Given the description of an element on the screen output the (x, y) to click on. 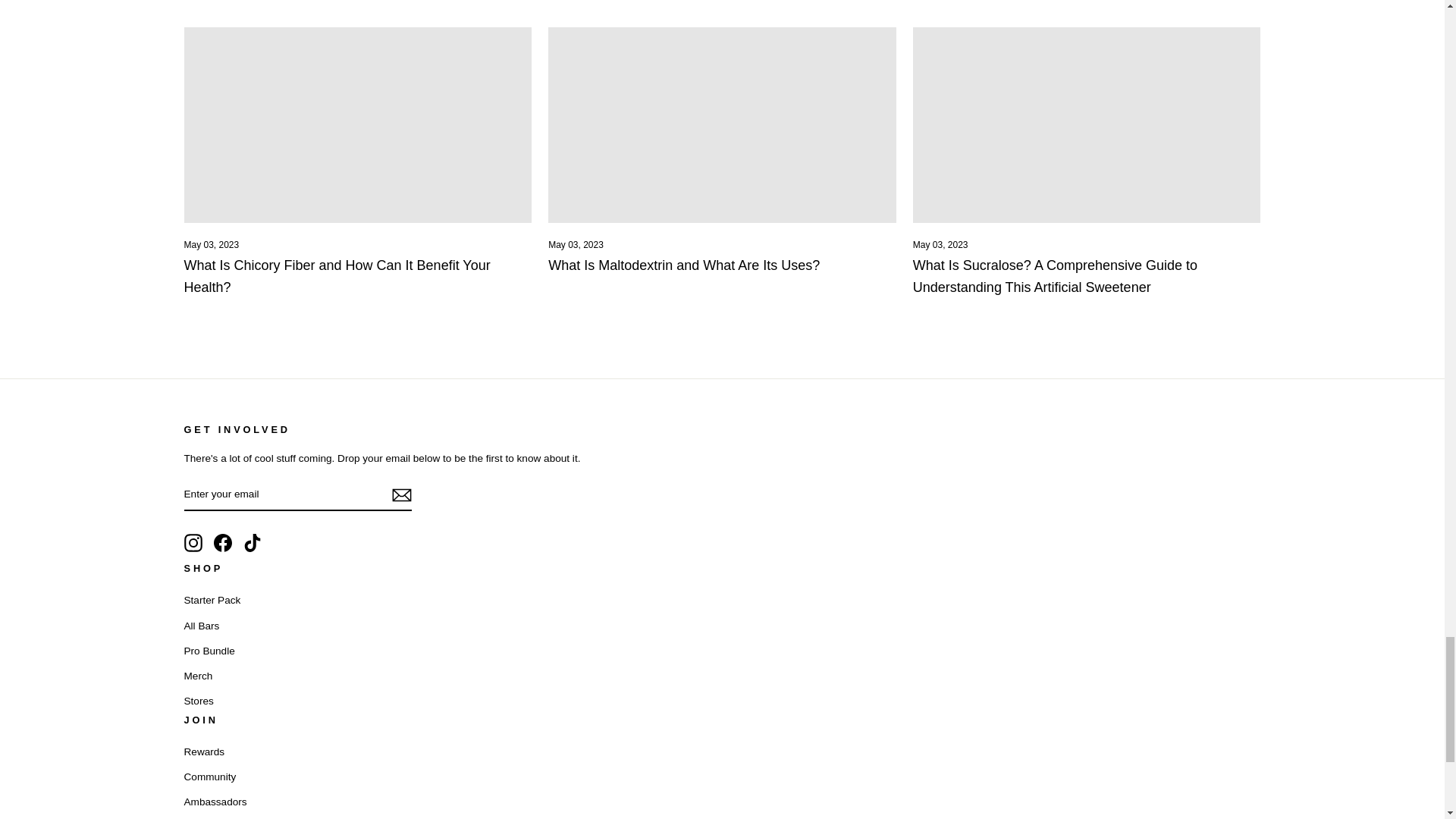
icon-email (400, 495)
What Is Chicory Fiber and How Can It Benefit Your Health? (336, 275)
Atlas Bar on Instagram (192, 542)
Atlas Bar on Facebook (222, 542)
instagram (192, 542)
Atlas Bar on TikTok (251, 542)
